Given the description of an element on the screen output the (x, y) to click on. 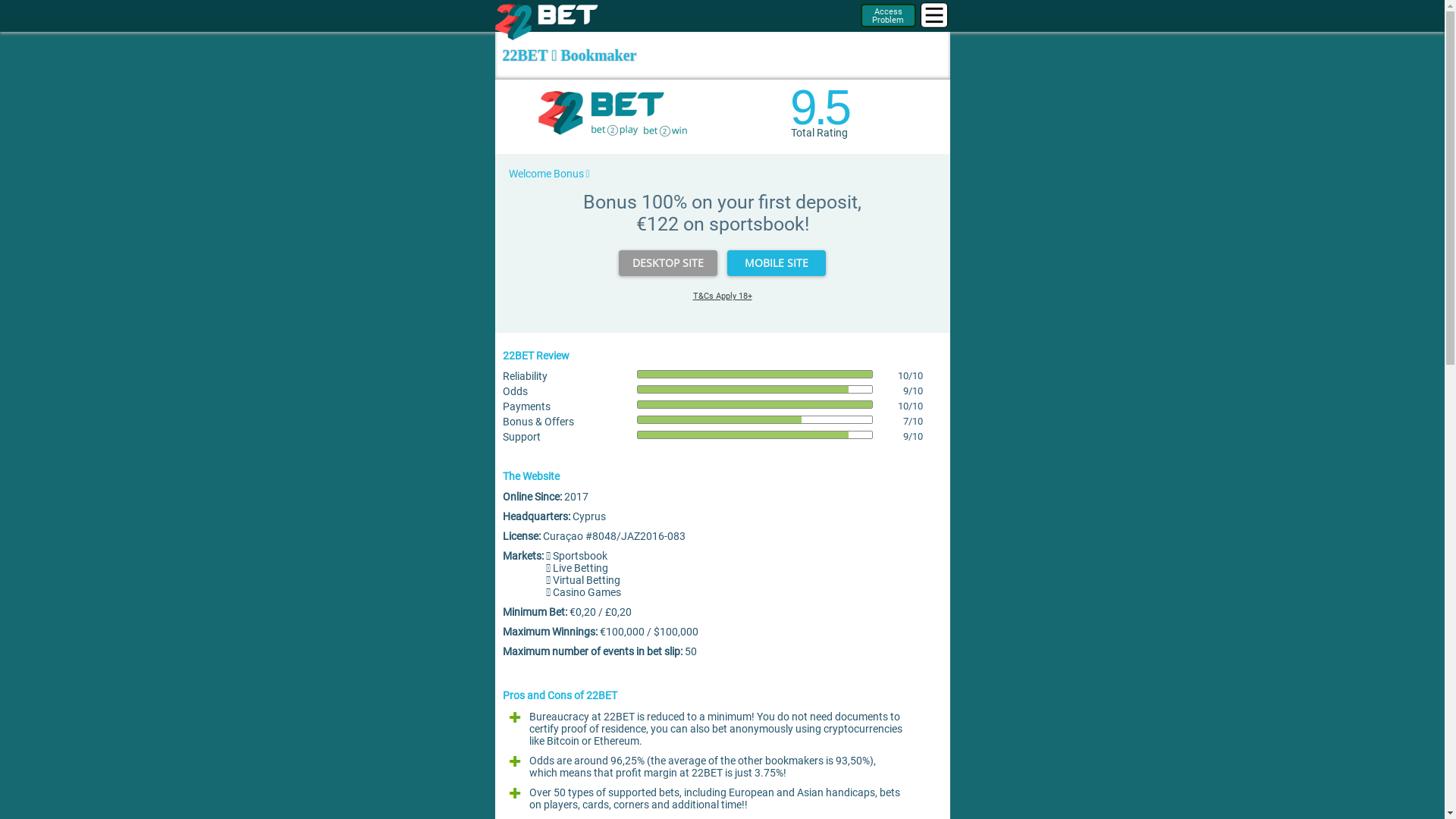
DESKTOP SITE Element type: text (667, 263)
Access Problem Element type: text (887, 15)
MOBILE SITE Element type: text (776, 263)
